Given the description of an element on the screen output the (x, y) to click on. 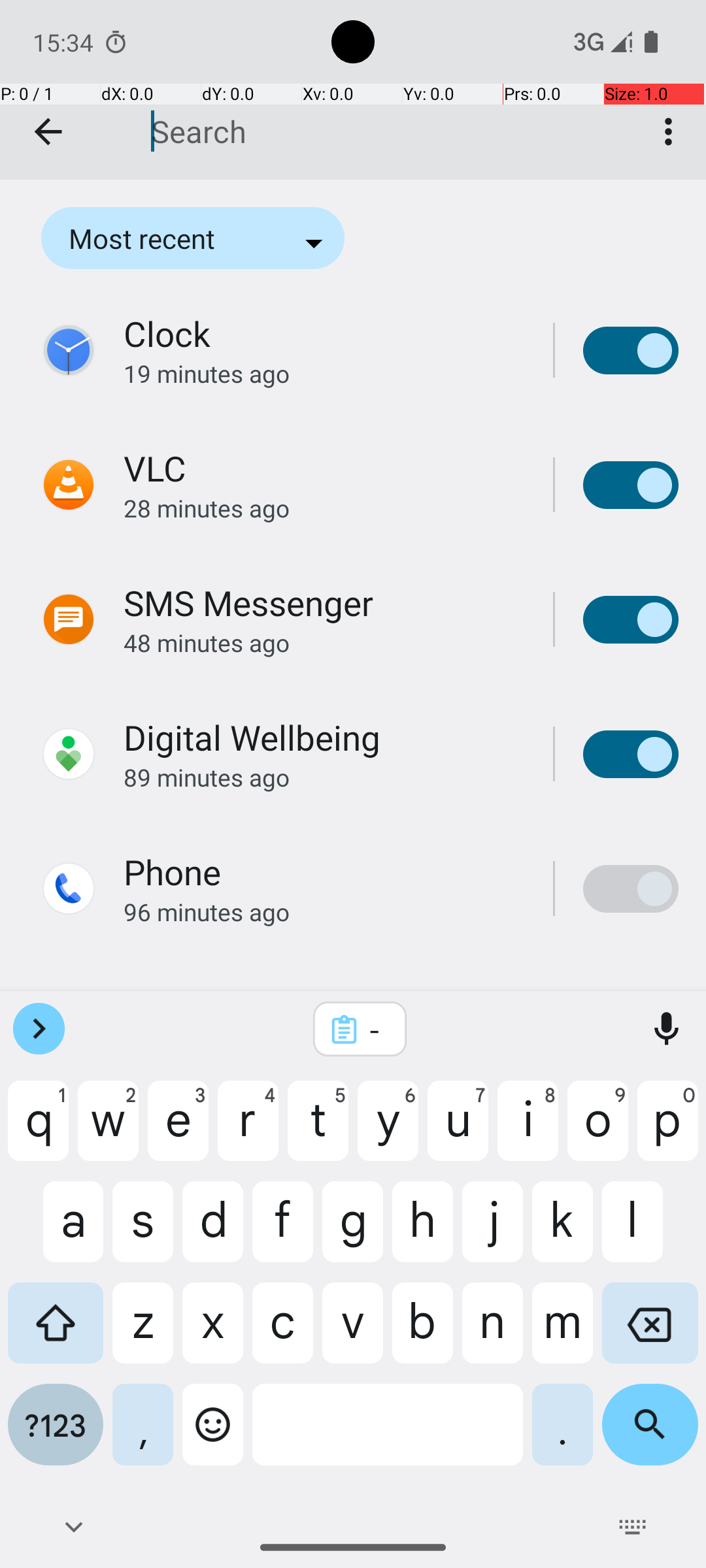
19 minutes ago Element type: android.widget.TextView (324, 373)
28 minutes ago Element type: android.widget.TextView (324, 507)
48 minutes ago Element type: android.widget.TextView (324, 642)
89 minutes ago Element type: android.widget.TextView (324, 776)
96 minutes ago Element type: android.widget.TextView (324, 911)
